Given the description of an element on the screen output the (x, y) to click on. 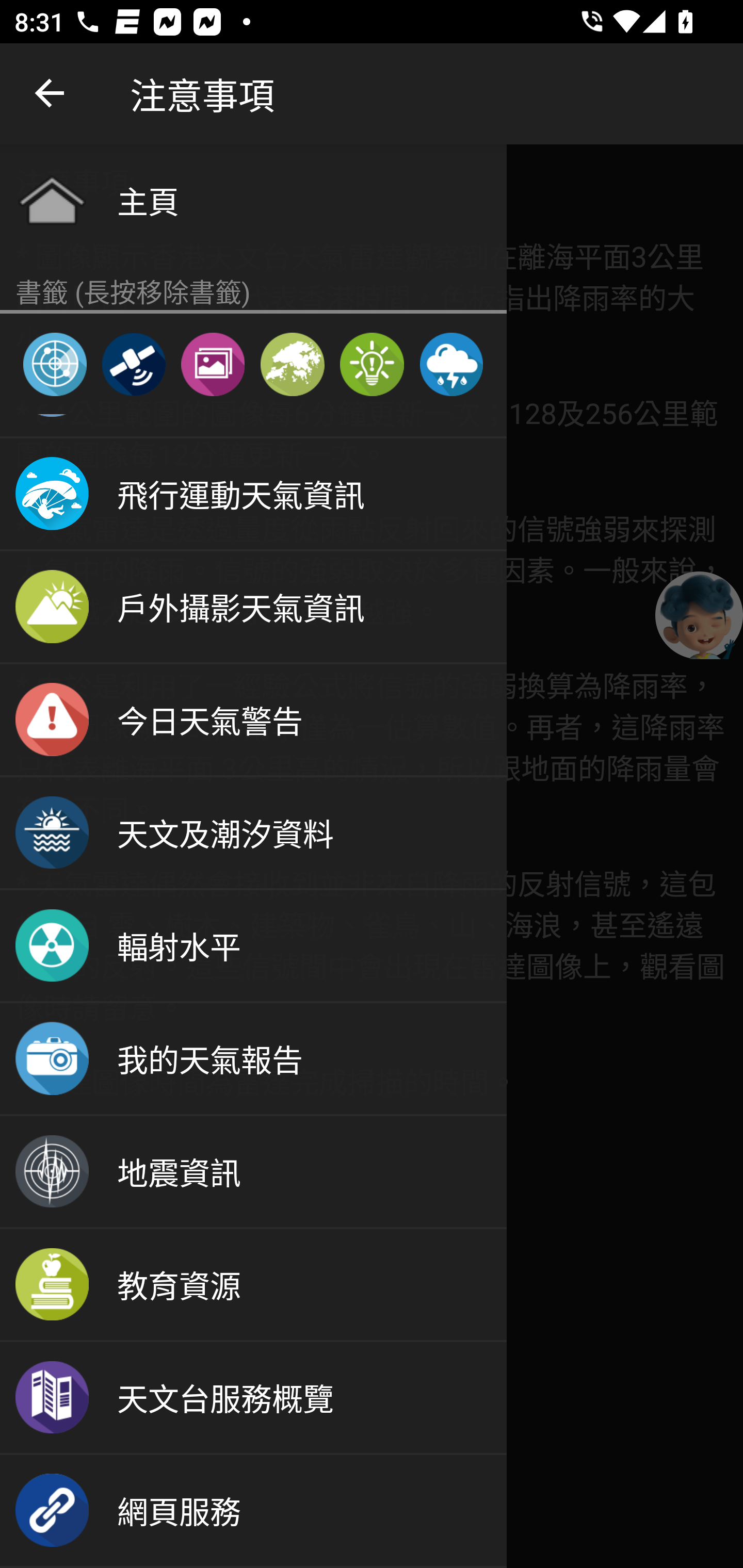
向上瀏覽 (50, 93)
主頁 (253, 199)
雷達圖像 (54, 364)
衛星圖像 (133, 364)
天氣照片 (212, 364)
分區天氣 (292, 364)
天氣提示 (371, 364)
定點降雨及閃電預報 (451, 364)
飛行運動天氣資訊 (253, 494)
戶外攝影天氣資訊 (253, 607)
今日天氣警告 (253, 720)
天文及潮汐資料 (253, 833)
輻射水平 (253, 946)
我的天氣報告 (253, 1058)
地震資訊 (253, 1172)
教育資源 (253, 1285)
天文台服務概覽 (253, 1398)
網頁服務 (253, 1511)
